Given the description of an element on the screen output the (x, y) to click on. 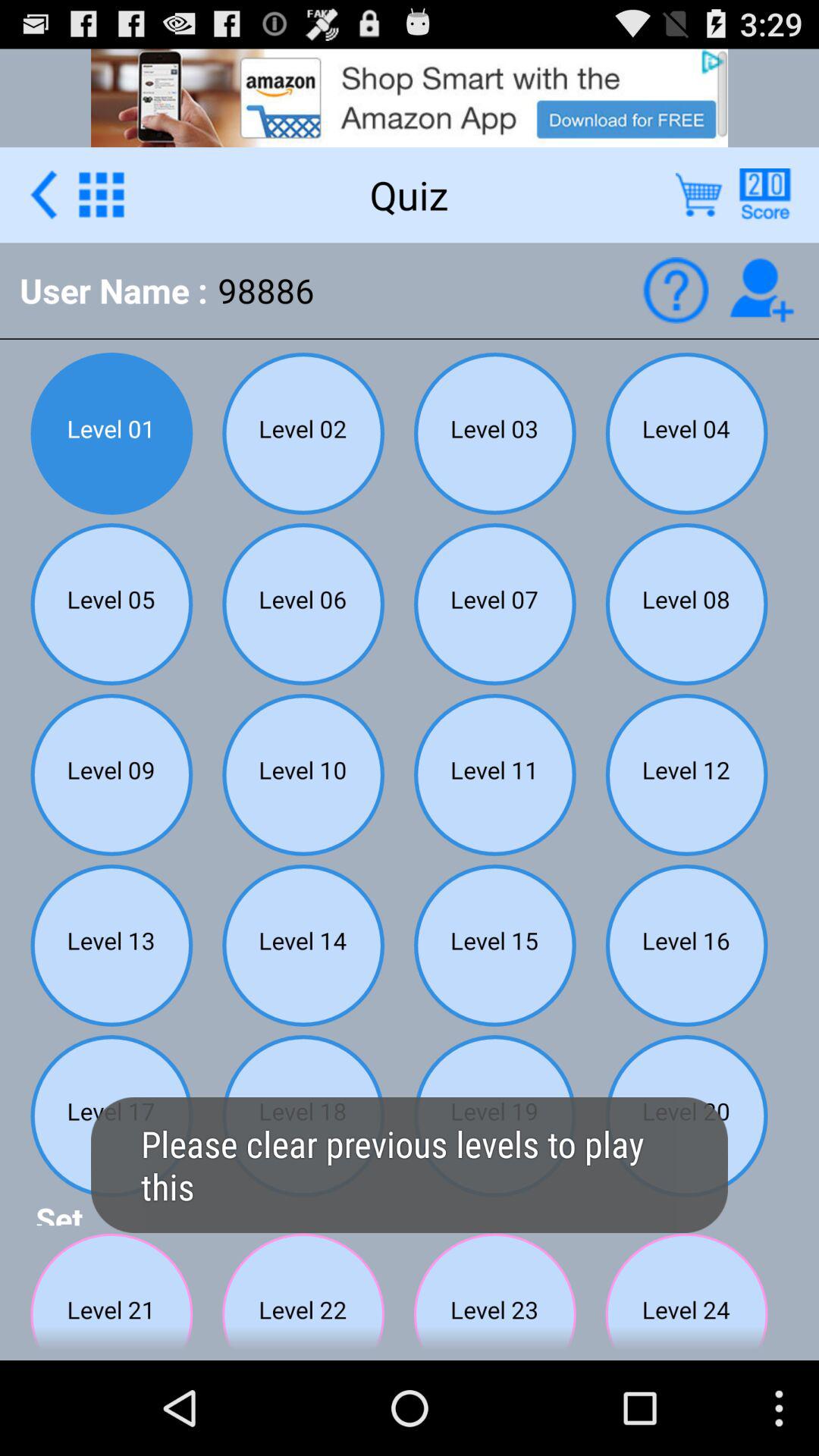
show cart (698, 194)
